Given the description of an element on the screen output the (x, y) to click on. 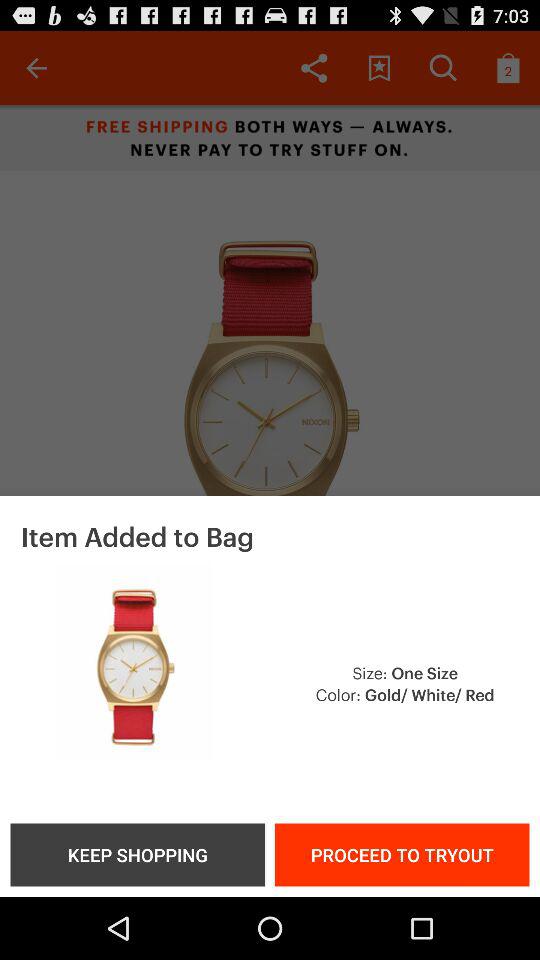
jump until proceed to tryout icon (402, 854)
